Given the description of an element on the screen output the (x, y) to click on. 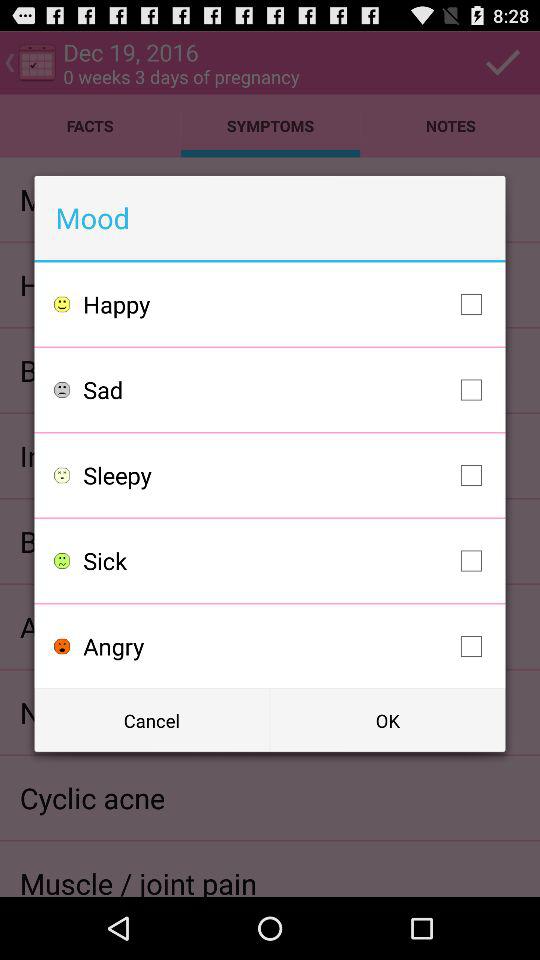
choose the icon above sad icon (287, 304)
